Given the description of an element on the screen output the (x, y) to click on. 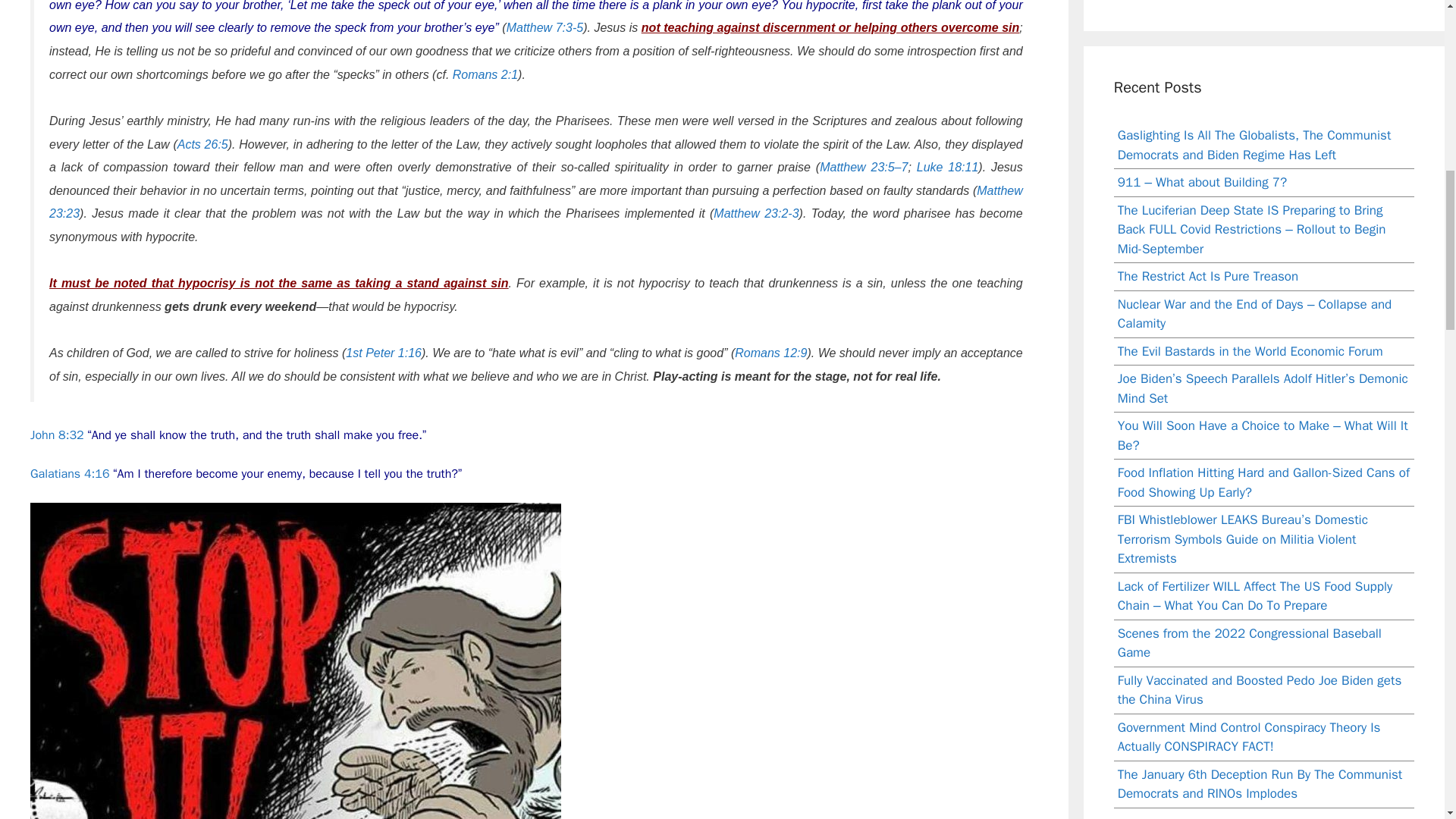
Matthew 7:3-5 (544, 27)
Acts 26:5 (202, 144)
Romans 2:1 (485, 74)
